Given the description of an element on the screen output the (x, y) to click on. 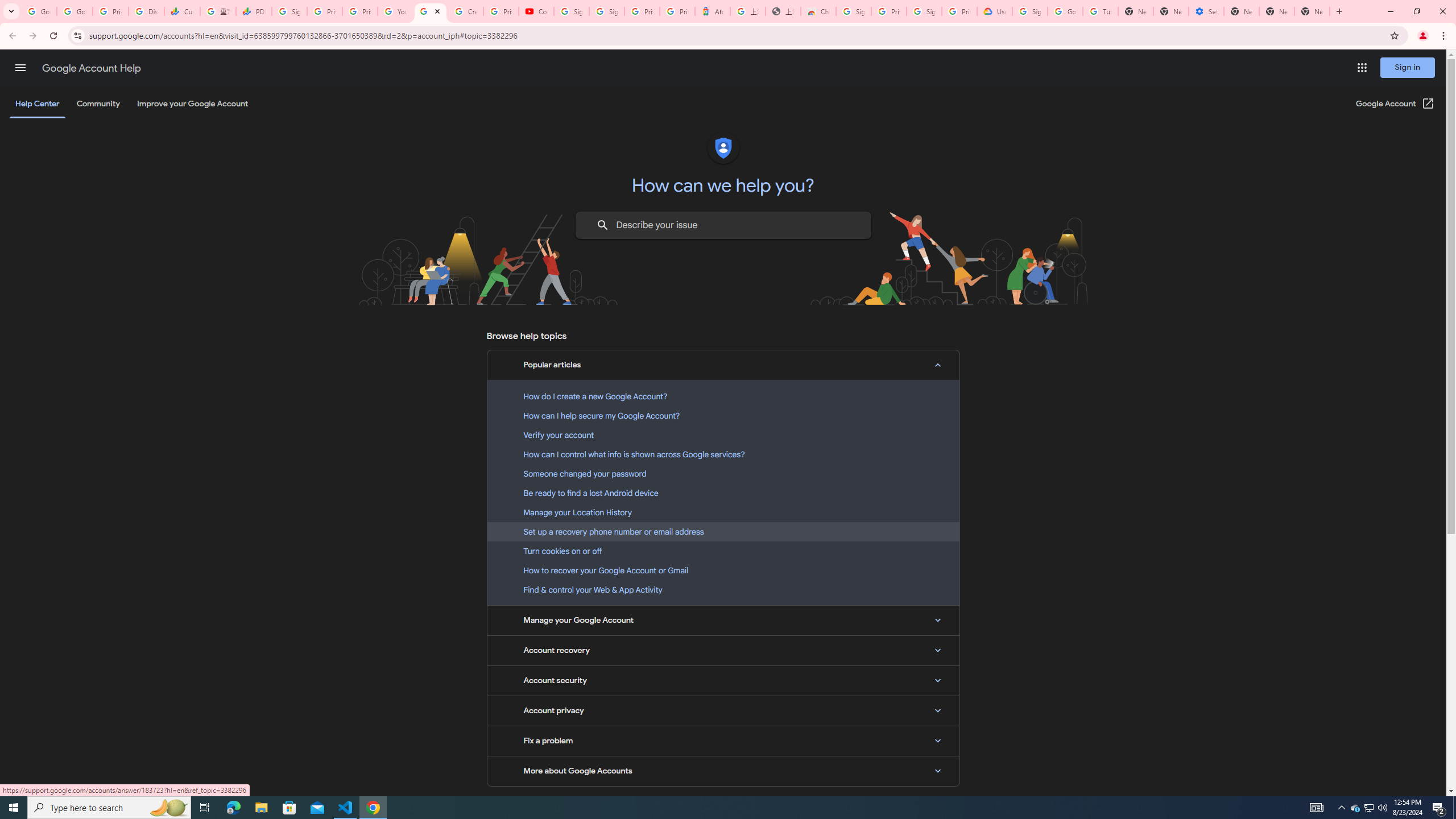
New Tab (1312, 11)
Atour Hotel - Google hotels (712, 11)
New Tab (1135, 11)
Account privacy (722, 710)
How to recover your Google Account or Gmail (722, 570)
Set up a recovery phone number or email address (722, 531)
Content Creator Programs & Opportunities - YouTube Creators (536, 11)
Turn cookies on or off (722, 551)
Turn cookies on or off - Computer - Google Account Help (1099, 11)
